Given the description of an element on the screen output the (x, y) to click on. 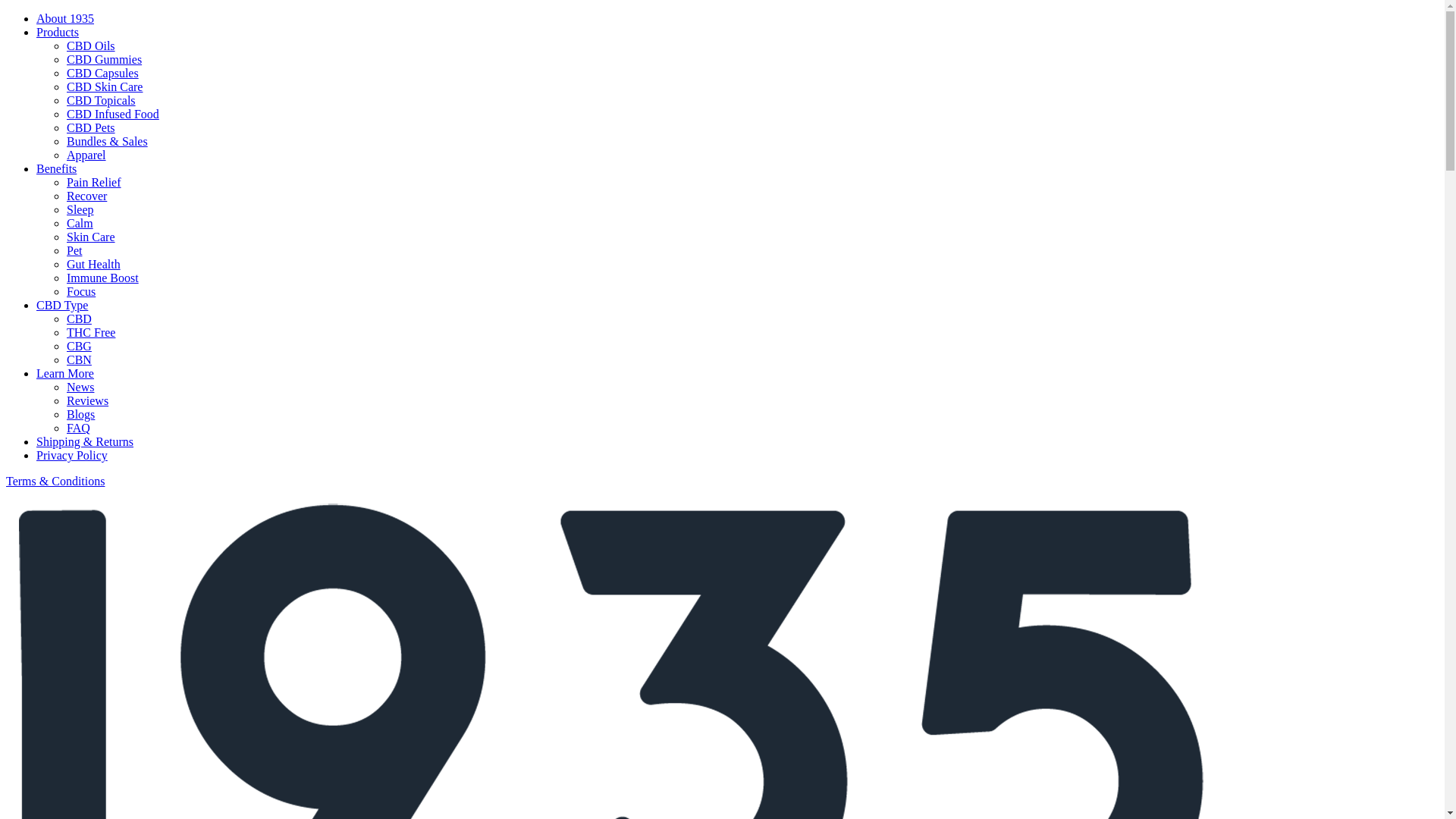
About 1935 Element type: text (65, 18)
Reviews Element type: text (87, 400)
Privacy Policy Element type: text (71, 454)
CBD Skin Care Element type: text (104, 86)
CBD Pets Element type: text (90, 127)
CBD Type Element type: text (61, 304)
Products Element type: text (57, 31)
CBD Infused Food Element type: text (112, 113)
Learn More Element type: text (65, 373)
CBN Element type: text (78, 359)
CBD Element type: text (78, 318)
News Element type: text (80, 386)
Focus Element type: text (80, 291)
CBD Gummies Element type: text (103, 59)
CBD Capsules Element type: text (102, 72)
CBD Oils Element type: text (90, 45)
Recover Element type: text (86, 195)
Sleep Element type: text (80, 209)
CBG Element type: text (78, 345)
THC Free Element type: text (90, 332)
Gut Health Element type: text (93, 263)
Immune Boost Element type: text (102, 277)
CBD Topicals Element type: text (100, 100)
Blogs Element type: text (80, 413)
Pet Element type: text (73, 250)
Apparel Element type: text (86, 154)
Calm Element type: text (79, 222)
Benefits Element type: text (56, 168)
FAQ Element type: text (78, 427)
Bundles & Sales Element type: text (106, 140)
Pain Relief Element type: text (93, 181)
Skin Care Element type: text (90, 236)
Terms & Conditions Element type: text (55, 480)
Shipping & Returns Element type: text (84, 441)
